Given the description of an element on the screen output the (x, y) to click on. 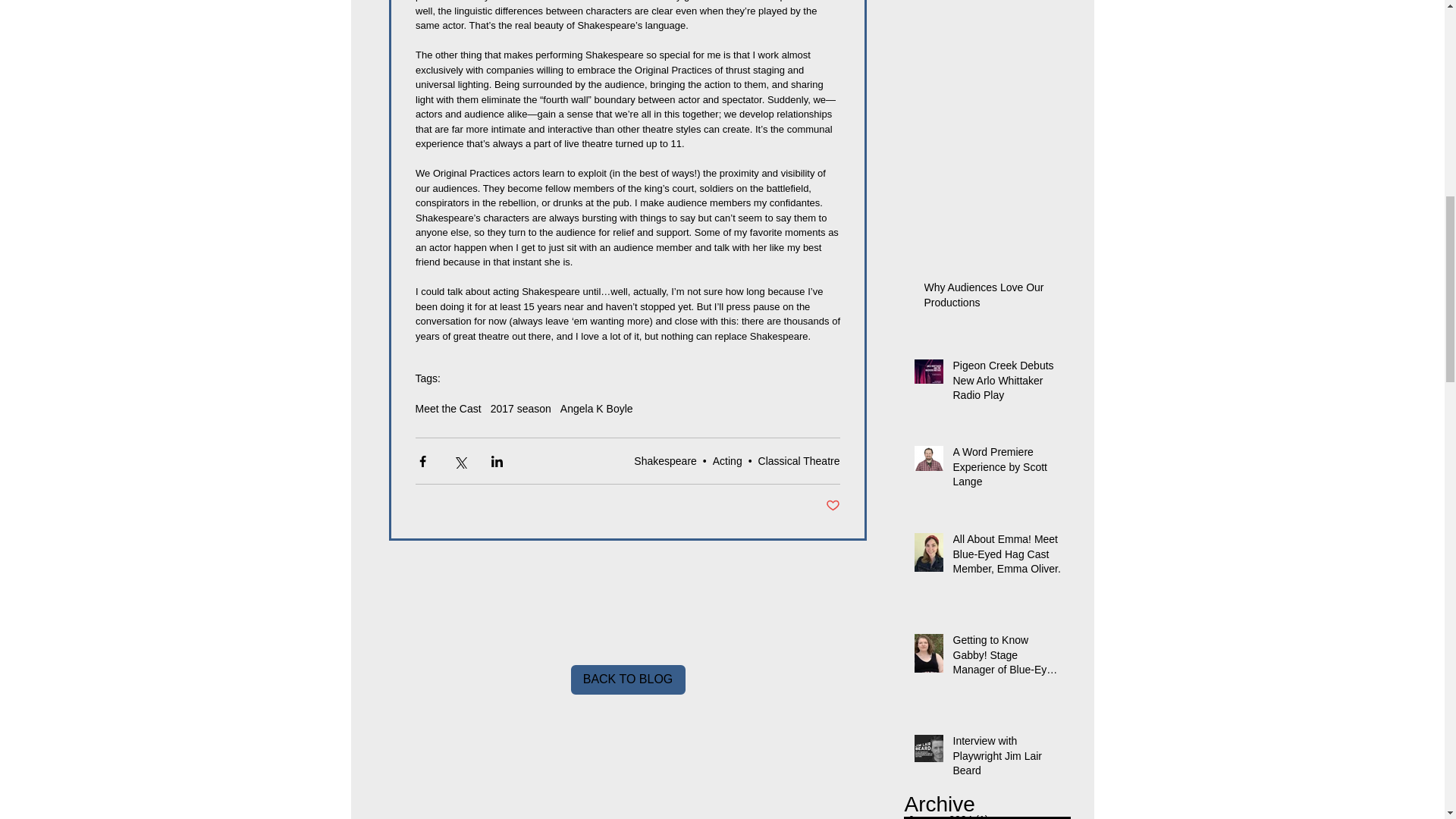
Post not marked as liked (832, 505)
2017 season (520, 408)
Meet the Cast (447, 408)
Angela K Boyle (596, 408)
Classical Theatre (799, 460)
Shakespeare (665, 460)
Acting (727, 460)
